Given the description of an element on the screen output the (x, y) to click on. 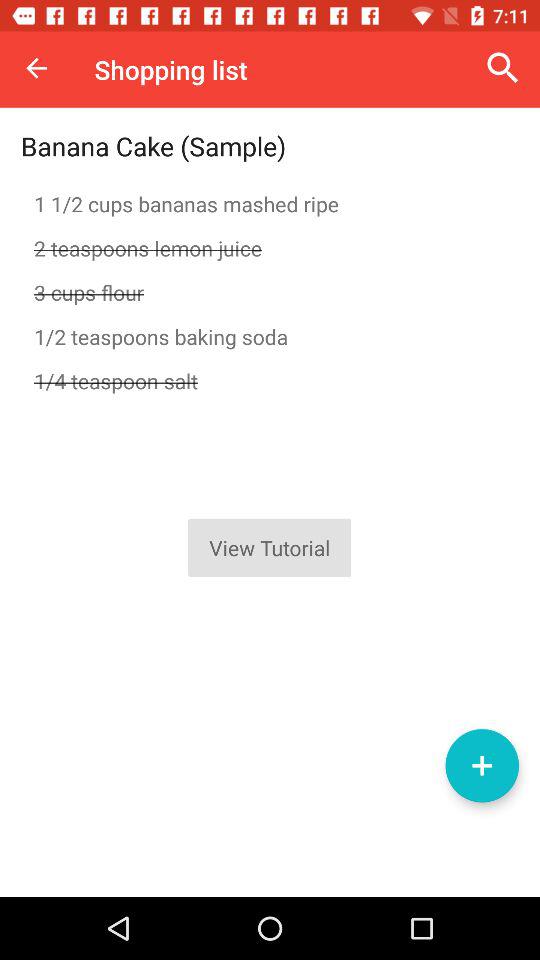
tap the icon below 2 teaspoons lemon icon (270, 292)
